Given the description of an element on the screen output the (x, y) to click on. 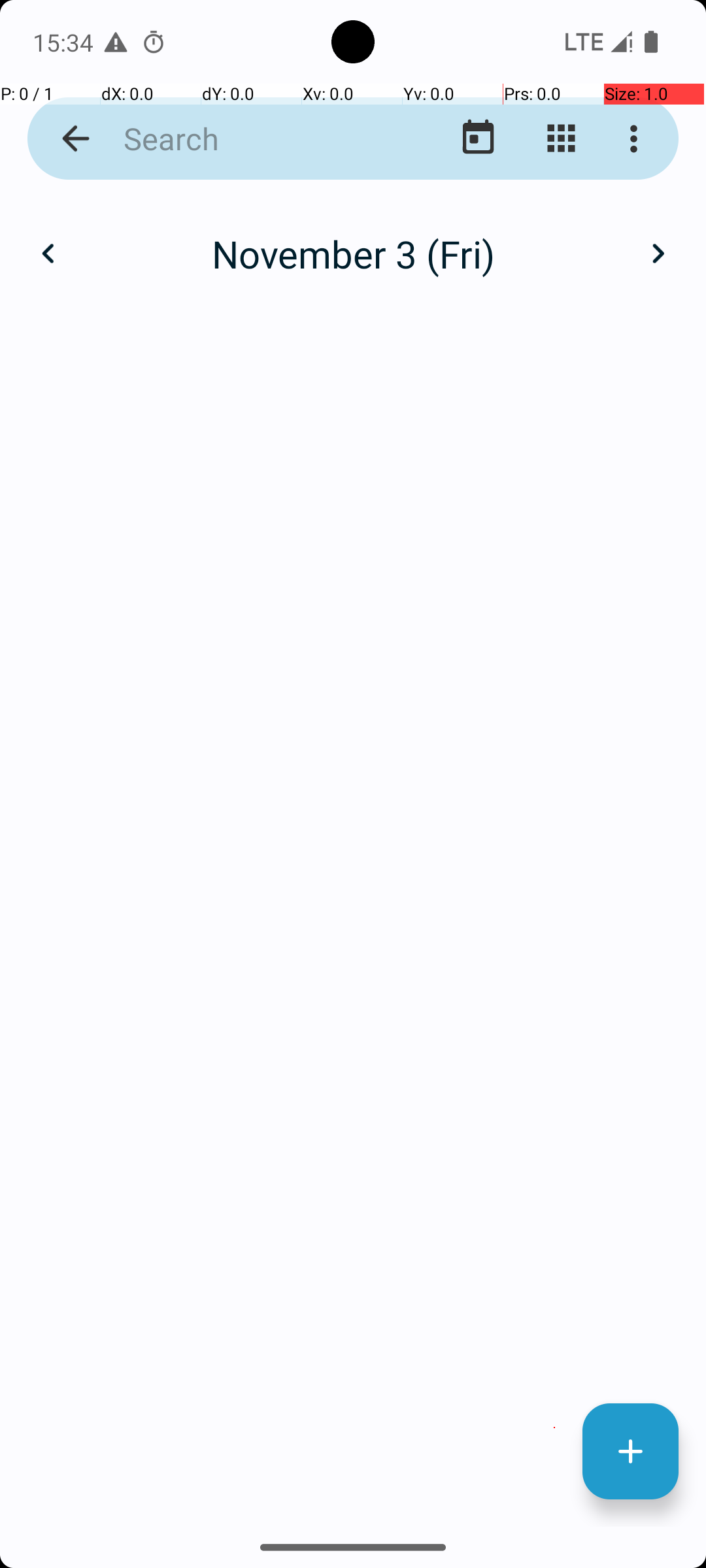
November 3 (Fri) Element type: android.widget.TextView (352, 253)
